Given the description of an element on the screen output the (x, y) to click on. 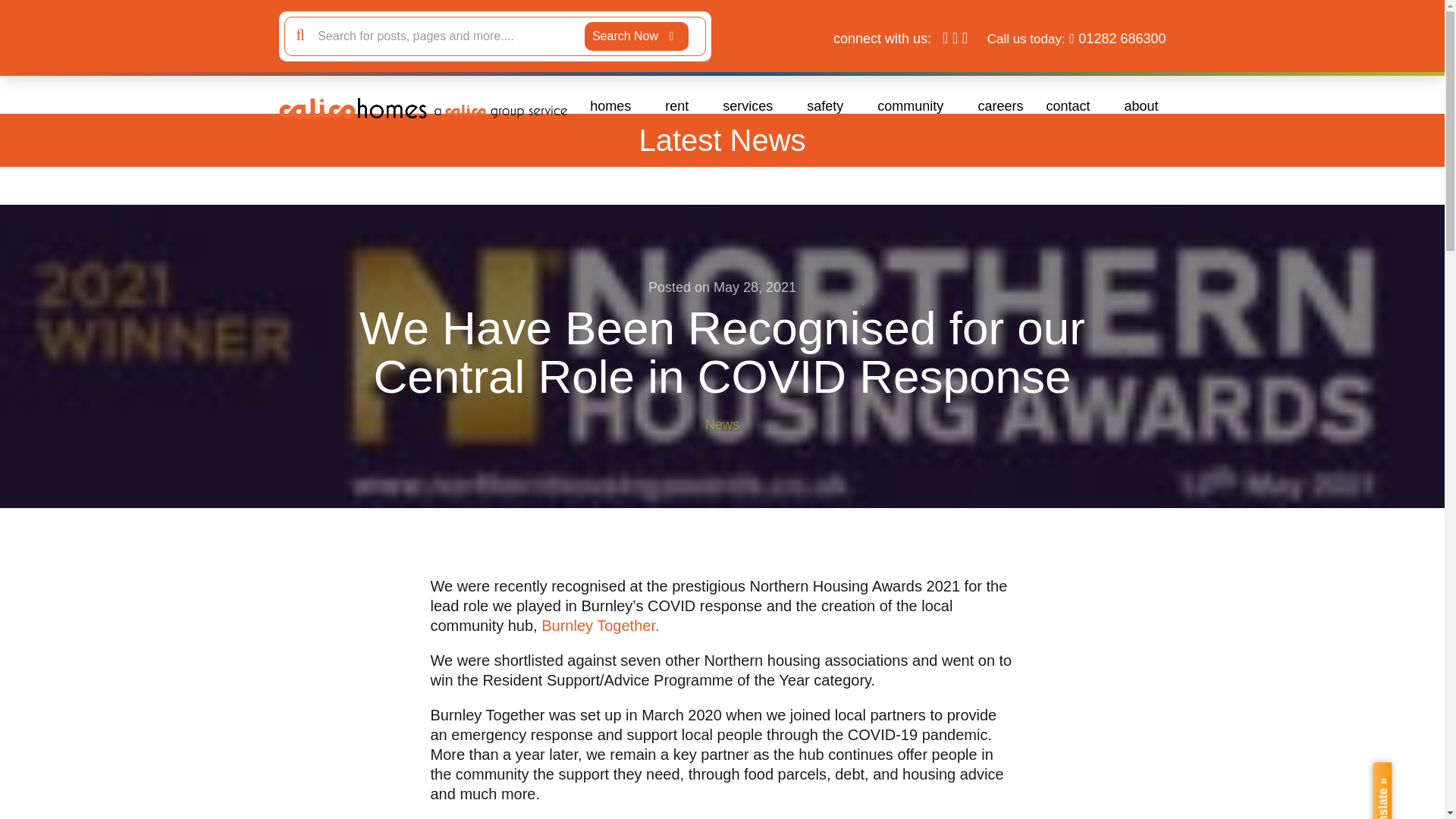
safety (830, 106)
Search Now (636, 36)
services (752, 106)
SSearch for posts, pages and more.... (447, 36)
homes (615, 106)
rent (682, 106)
community (916, 106)
01282 686300 (1122, 38)
